Given the description of an element on the screen output the (x, y) to click on. 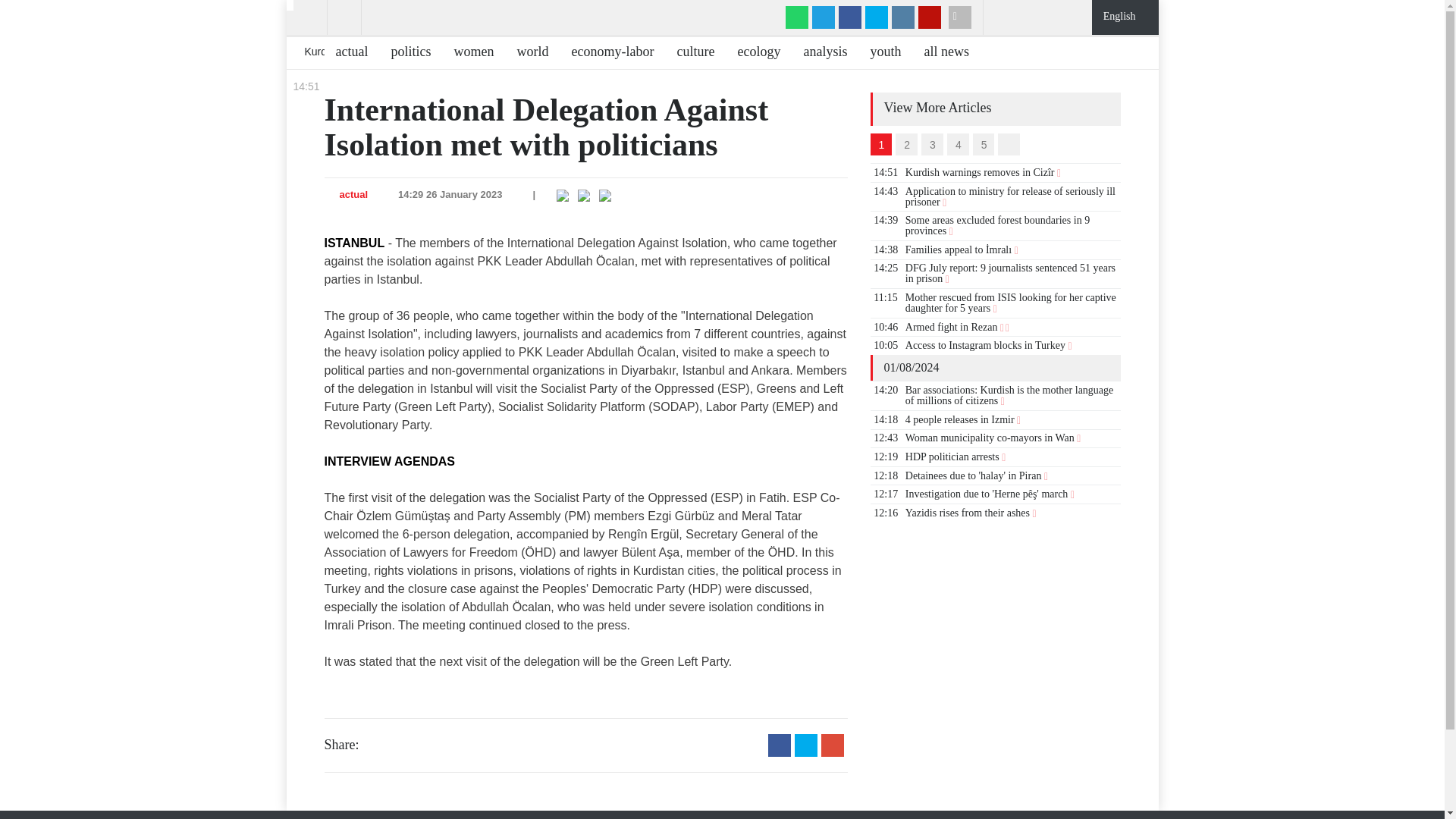
ecology (752, 52)
world (526, 52)
whatsapp (797, 16)
14:51 (305, 86)
women (467, 52)
all news (940, 52)
youtube (929, 16)
politics (404, 52)
economy-labor (606, 52)
culture (689, 52)
